Given the description of an element on the screen output the (x, y) to click on. 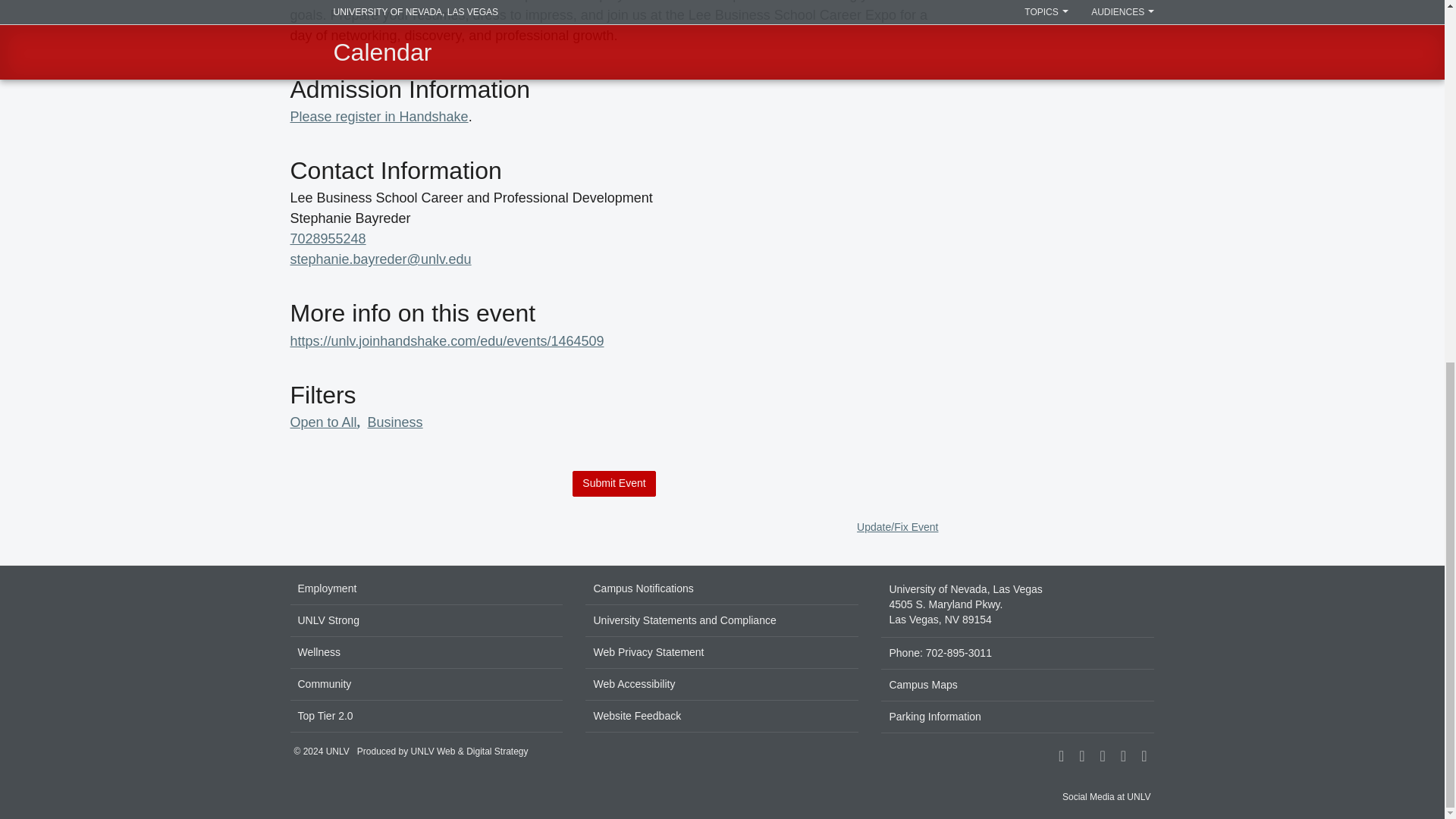
Follow us on TikTok (1102, 757)
Follow us on Twitter (1122, 757)
View Campus Map (1017, 605)
Find us on Facebook (1060, 757)
Find us on Instagram (1081, 757)
Watch us on YouTube (1143, 757)
